Given the description of an element on the screen output the (x, y) to click on. 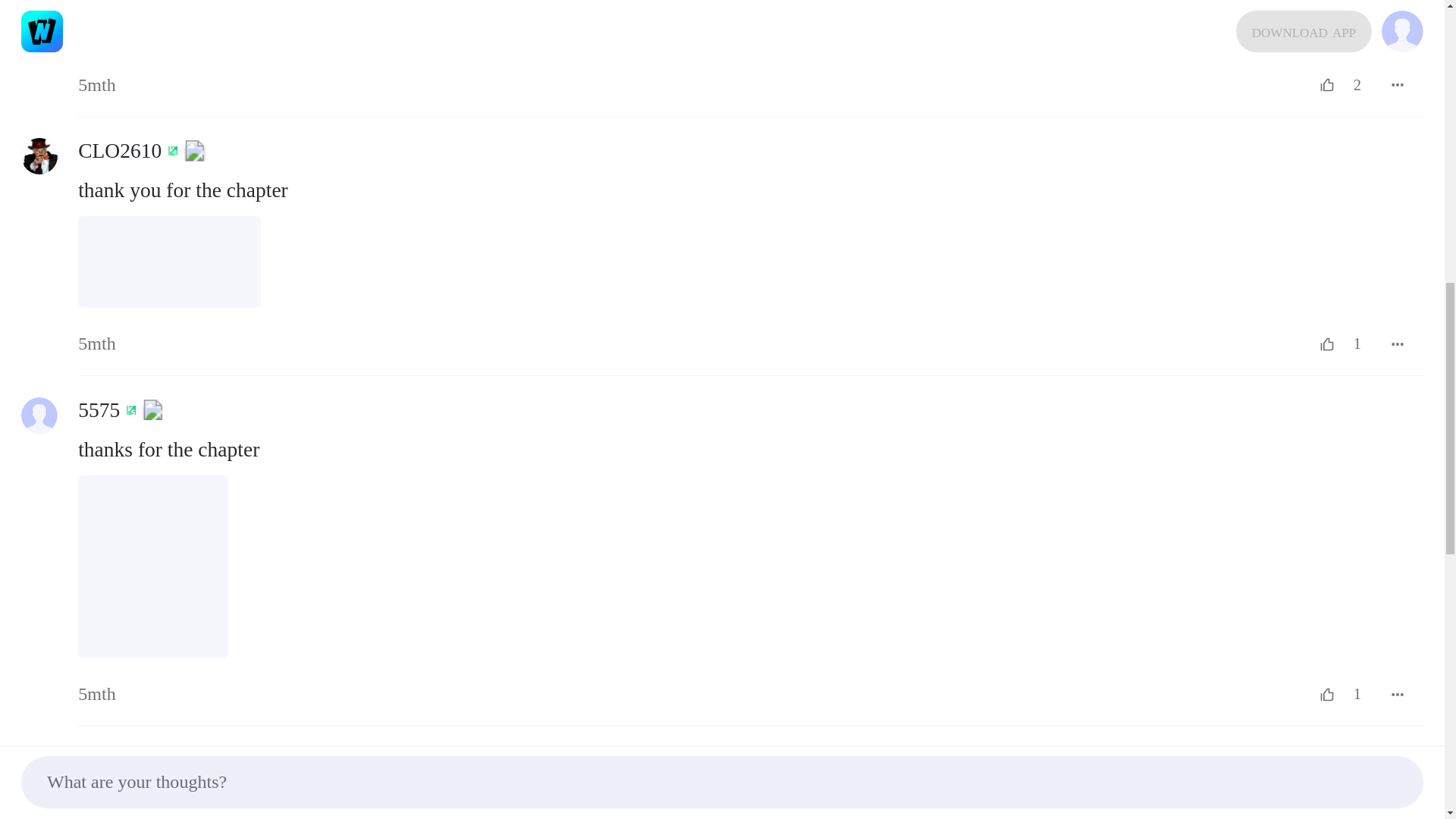
reply (750, 24)
CLO2610 (39, 156)
5575 (39, 415)
